Given the description of an element on the screen output the (x, y) to click on. 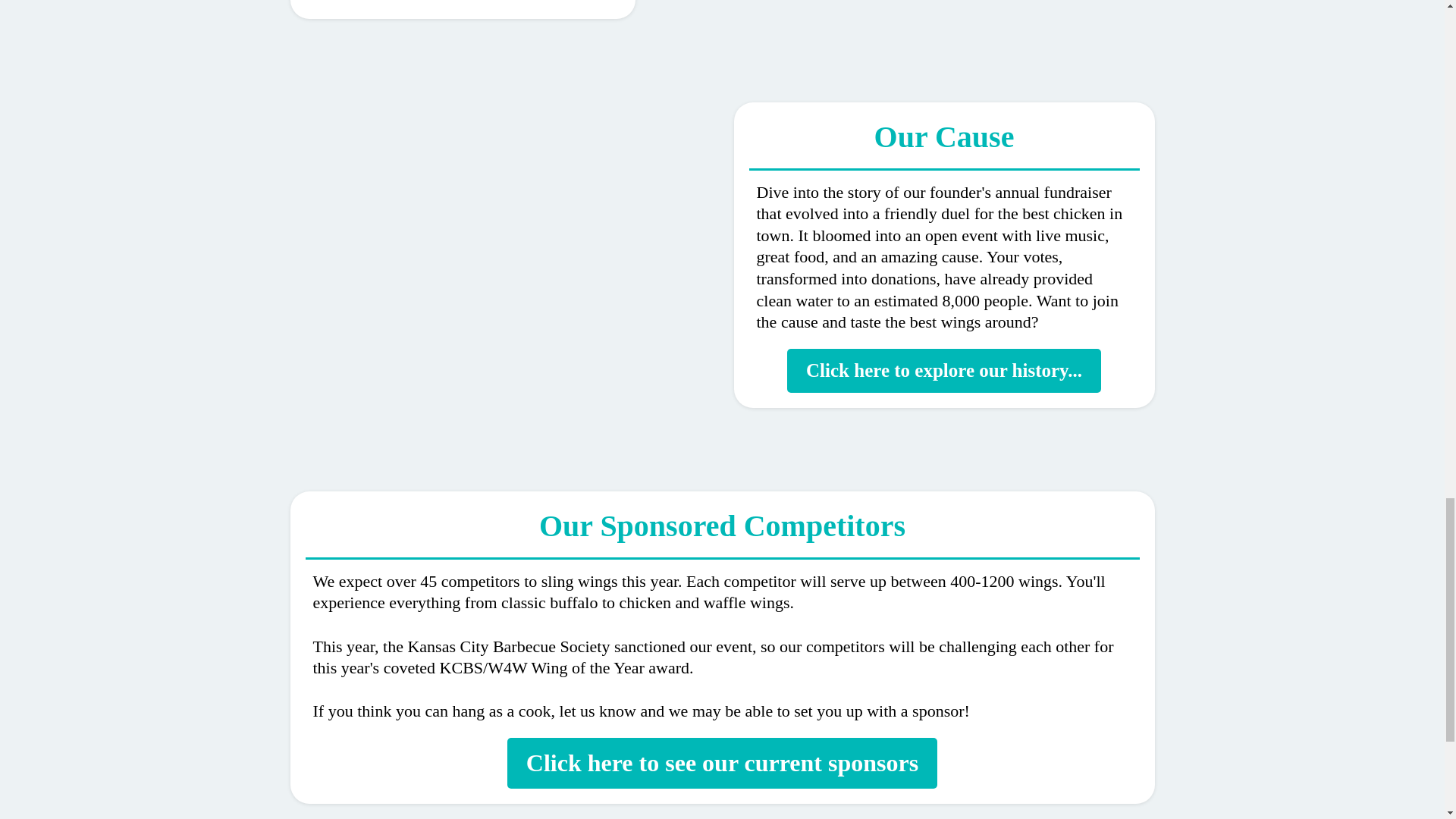
Click here to explore our history... (943, 370)
Click here to see our current sponsors (721, 762)
